Given the description of an element on the screen output the (x, y) to click on. 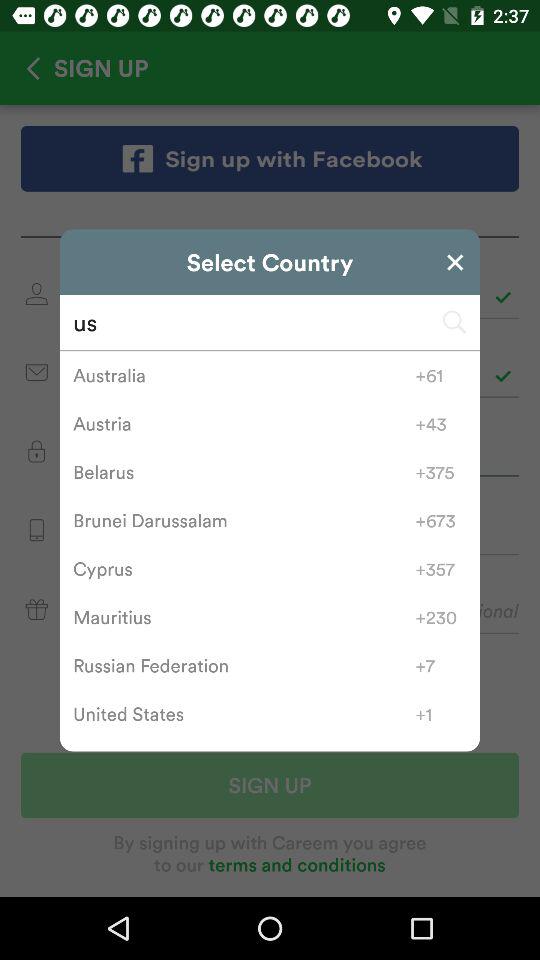
exit (455, 262)
